Given the description of an element on the screen output the (x, y) to click on. 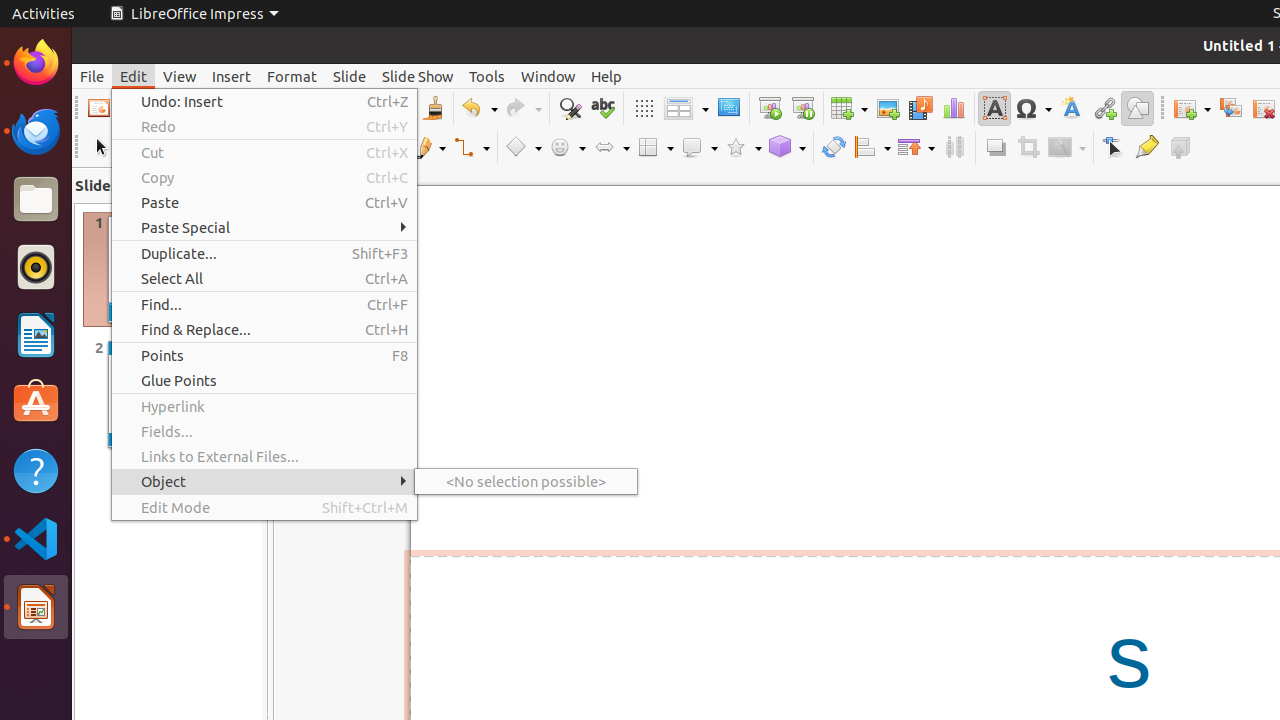
Points Element type: check-menu-item (264, 355)
Rhythmbox Element type: push-button (36, 267)
Duplicate... Element type: menu-item (264, 253)
Find & Replace... Element type: menu-item (264, 329)
